Given the description of an element on the screen output the (x, y) to click on. 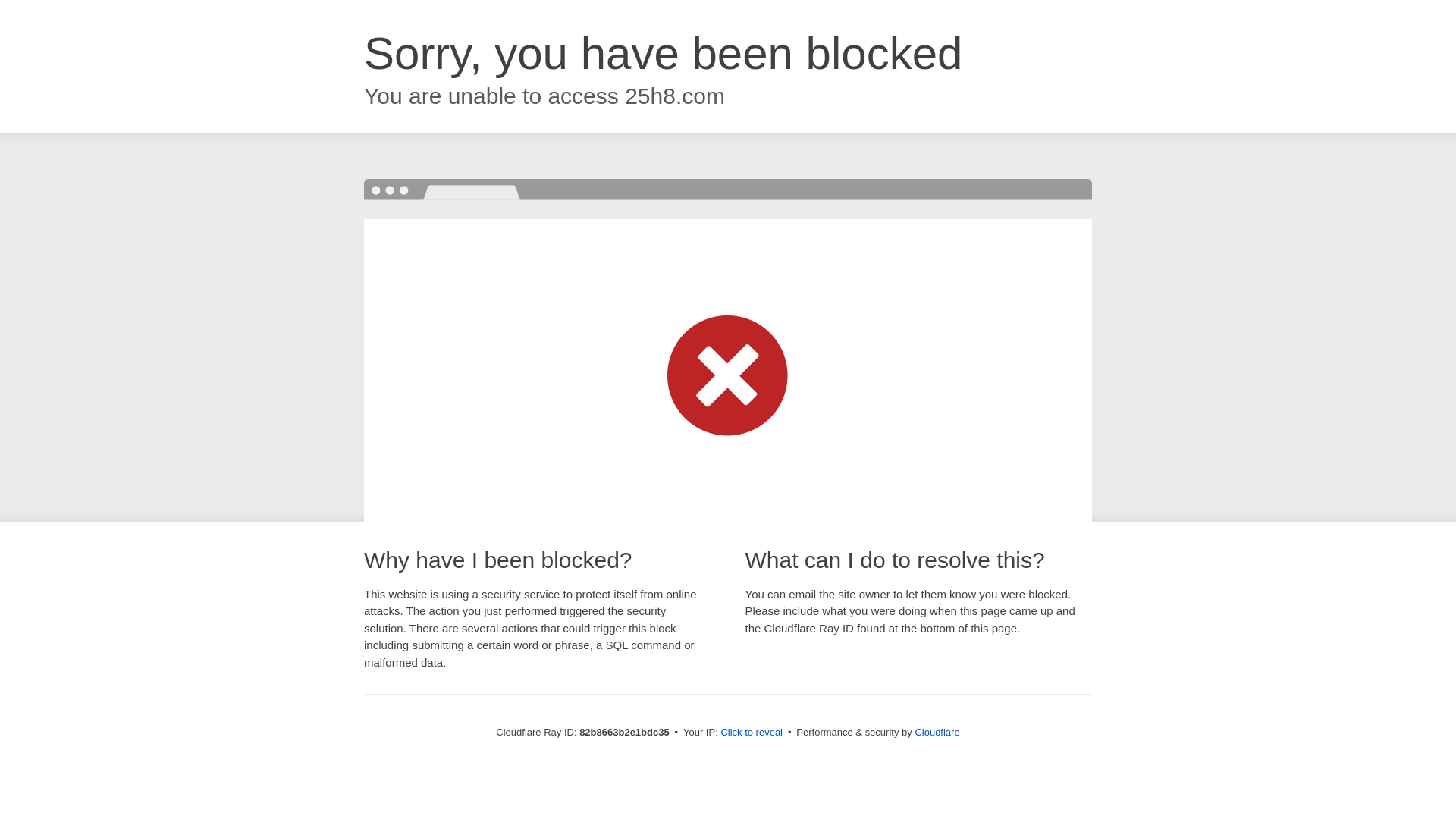
Click to reveal Element type: text (751, 732)
Cloudflare Element type: text (936, 731)
